Given the description of an element on the screen output the (x, y) to click on. 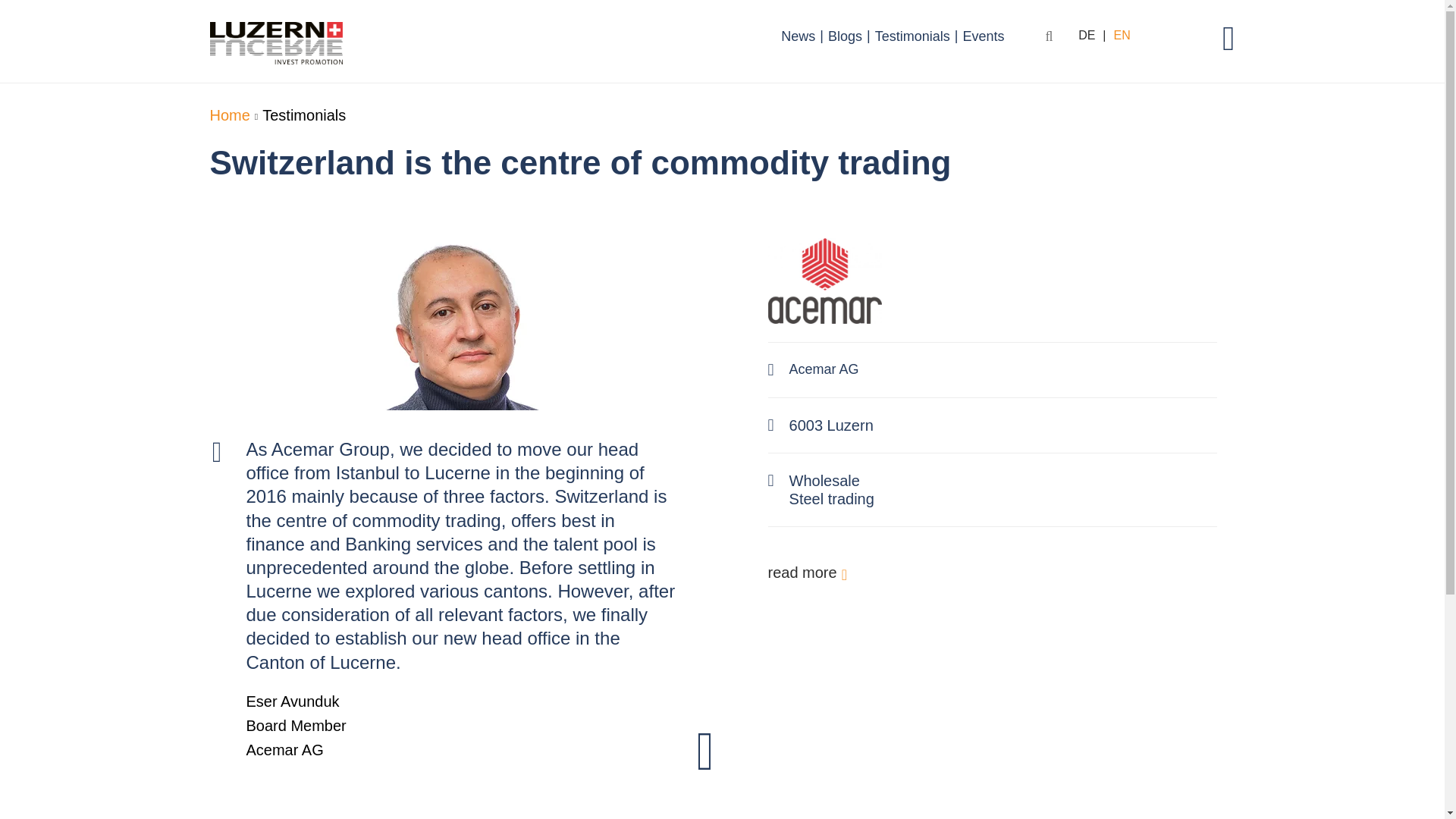
DE (1085, 36)
EN (1120, 36)
Blogs (845, 36)
News (797, 36)
Testimonials (912, 36)
Events (983, 36)
